Given the description of an element on the screen output the (x, y) to click on. 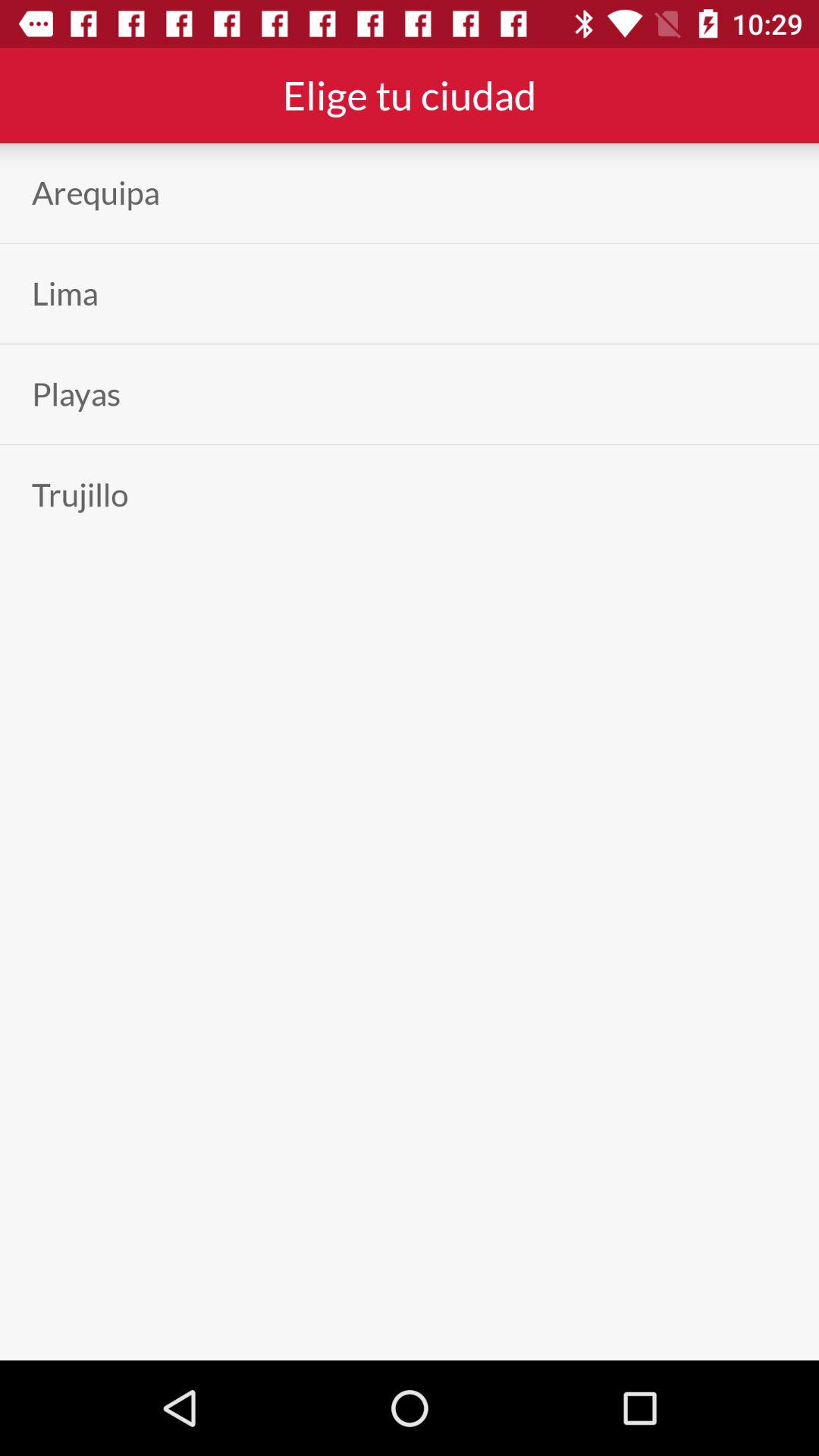
tap the icon below playas icon (79, 495)
